Given the description of an element on the screen output the (x, y) to click on. 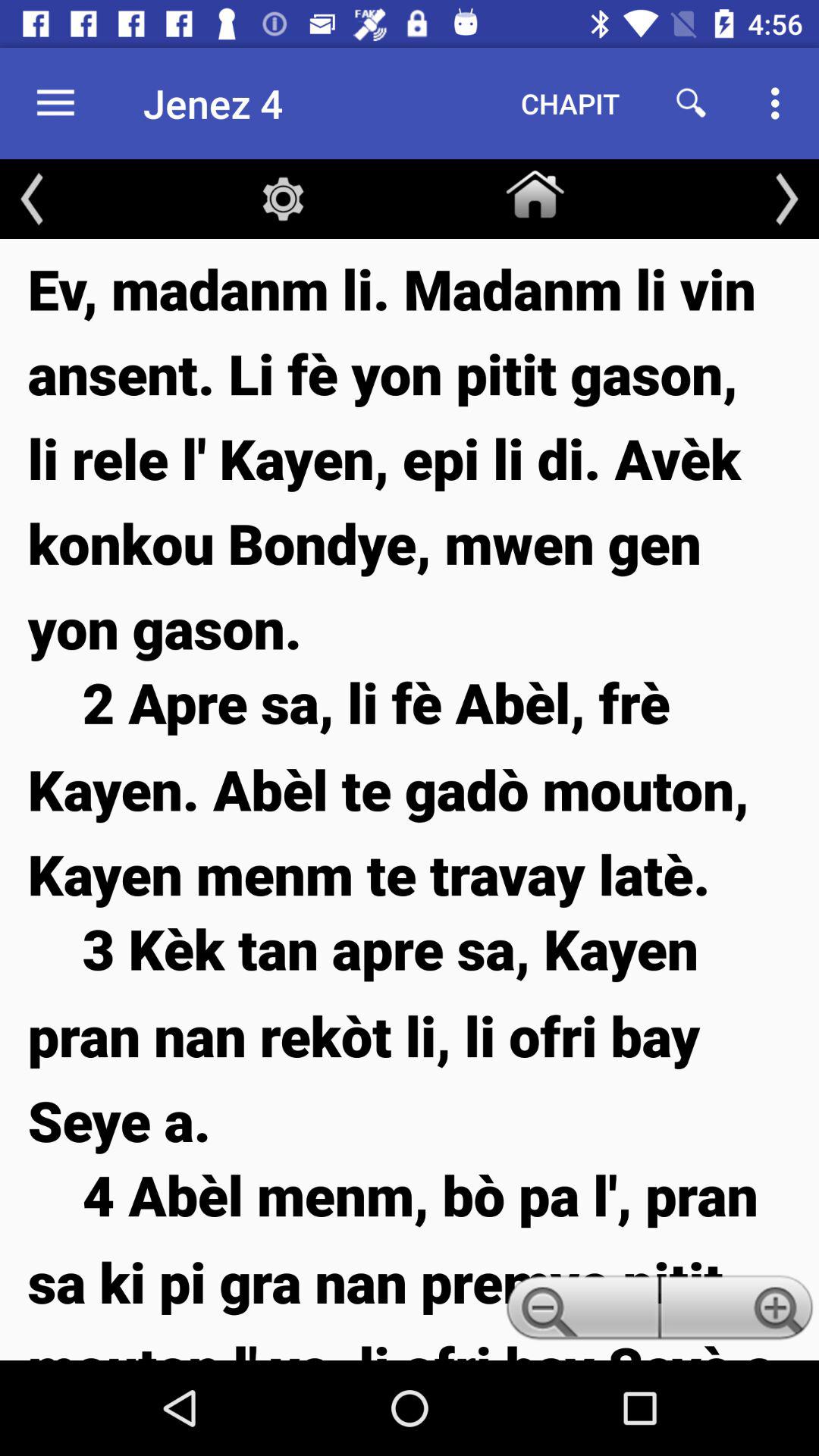
turn on item to the left of the jenez 4 icon (55, 103)
